Given the description of an element on the screen output the (x, y) to click on. 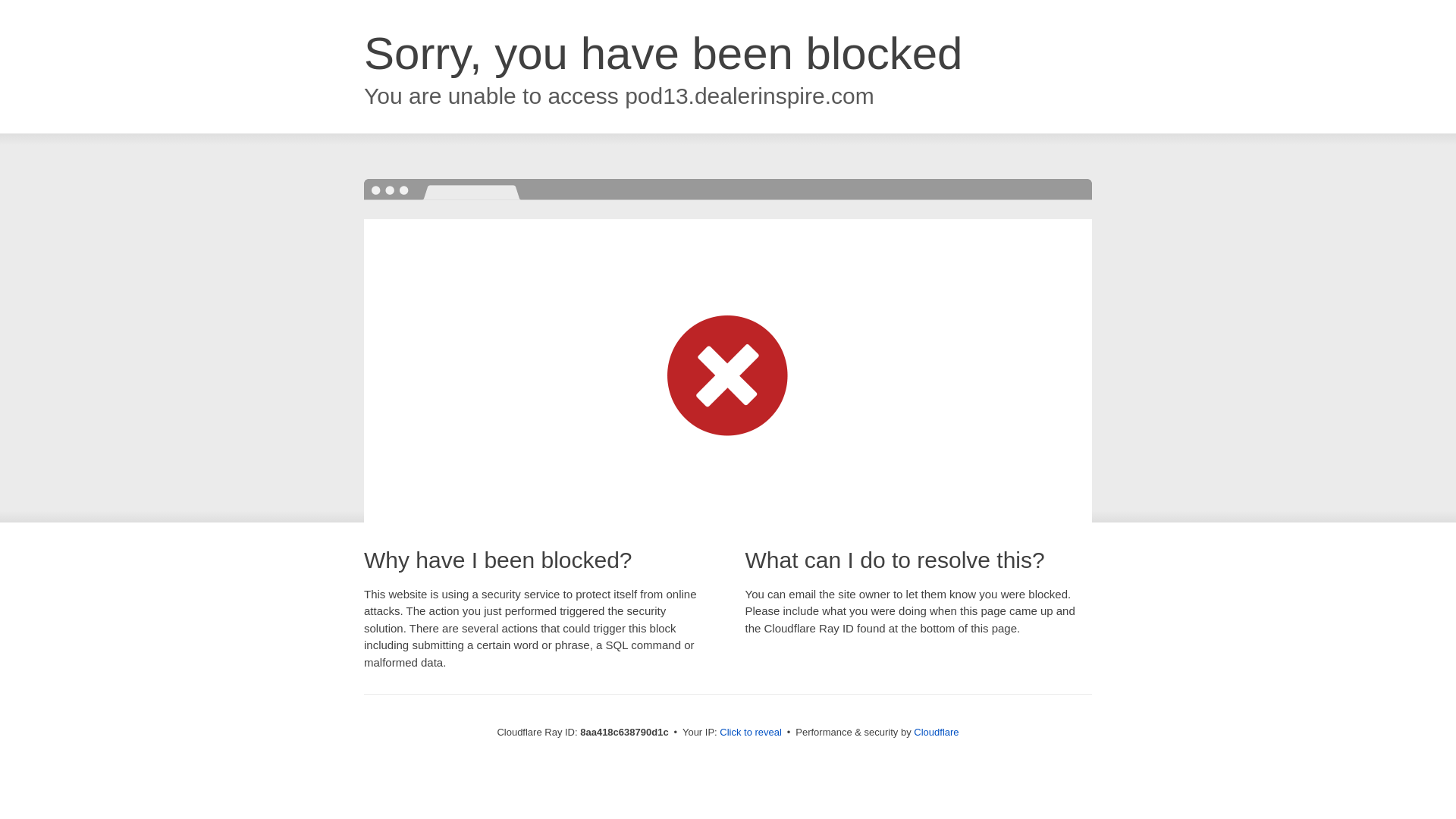
Cloudflare (936, 731)
Click to reveal (750, 732)
